Given the description of an element on the screen output the (x, y) to click on. 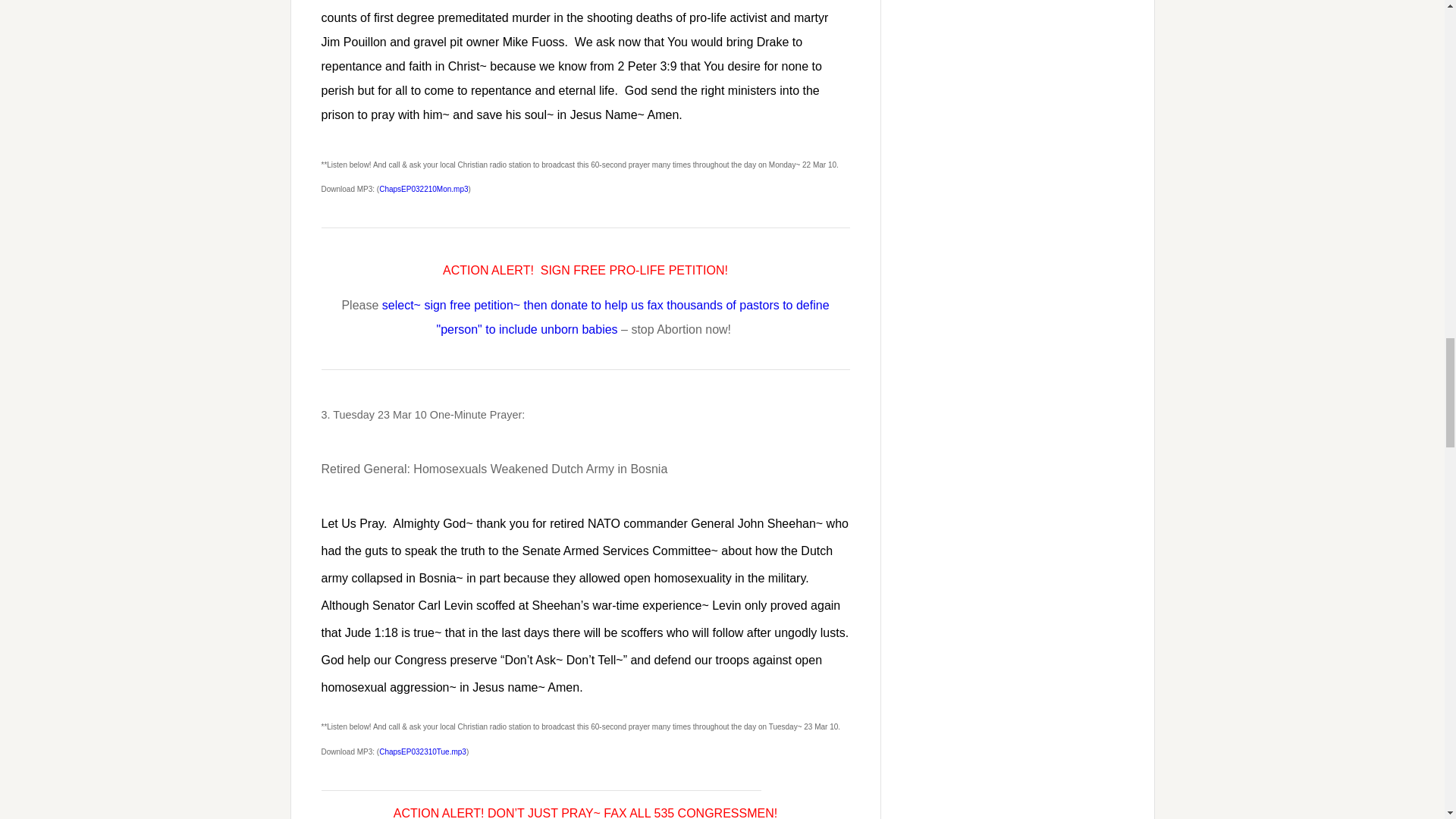
ChapsEP032310Tue.mp3 (421, 751)
ChapsEP032210Mon.mp3 (422, 189)
